Given the description of an element on the screen output the (x, y) to click on. 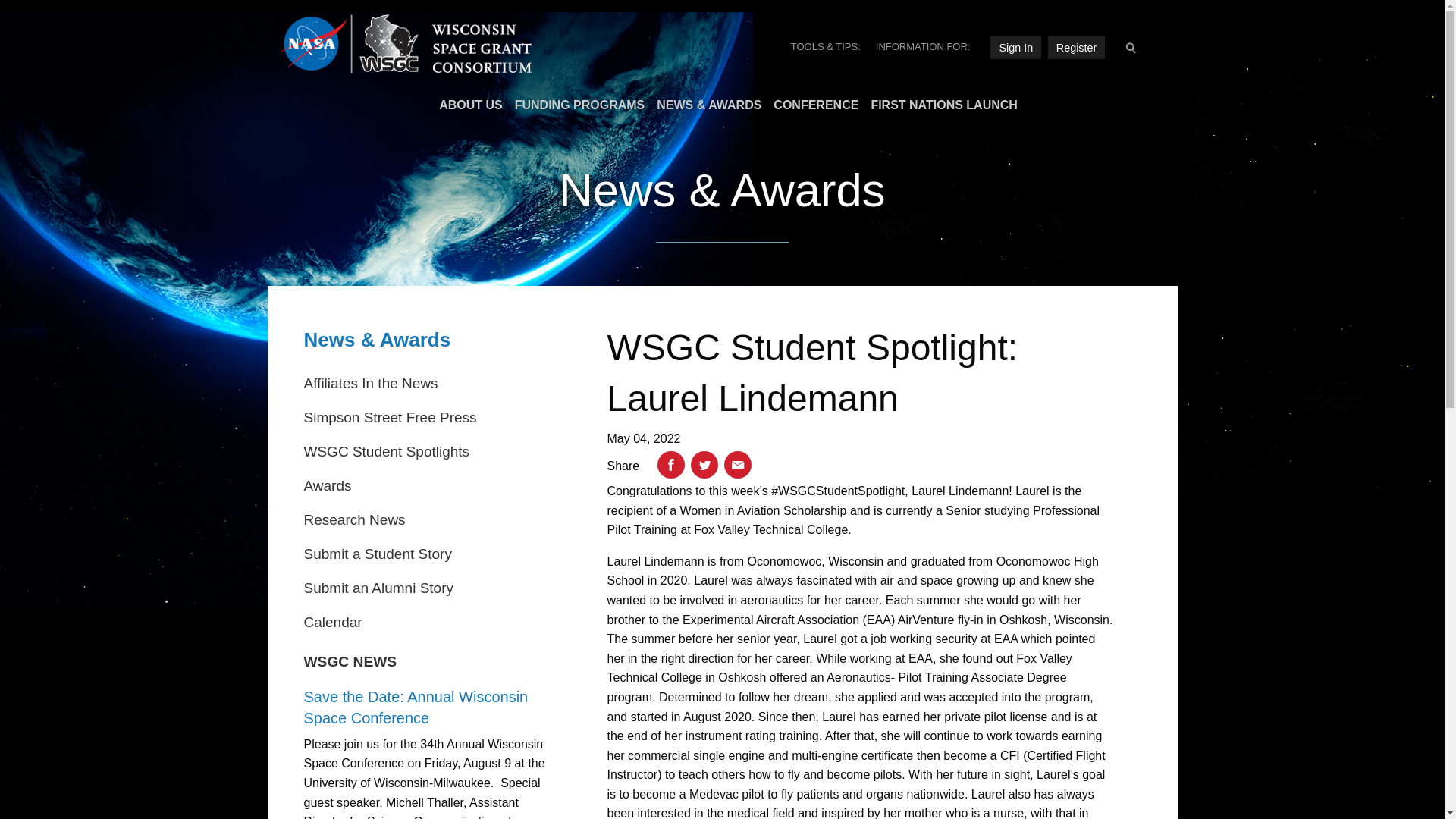
Sign In (1015, 47)
ABOUT US (464, 104)
INFORMATION FOR: (922, 46)
Register (1076, 47)
